Given the description of an element on the screen output the (x, y) to click on. 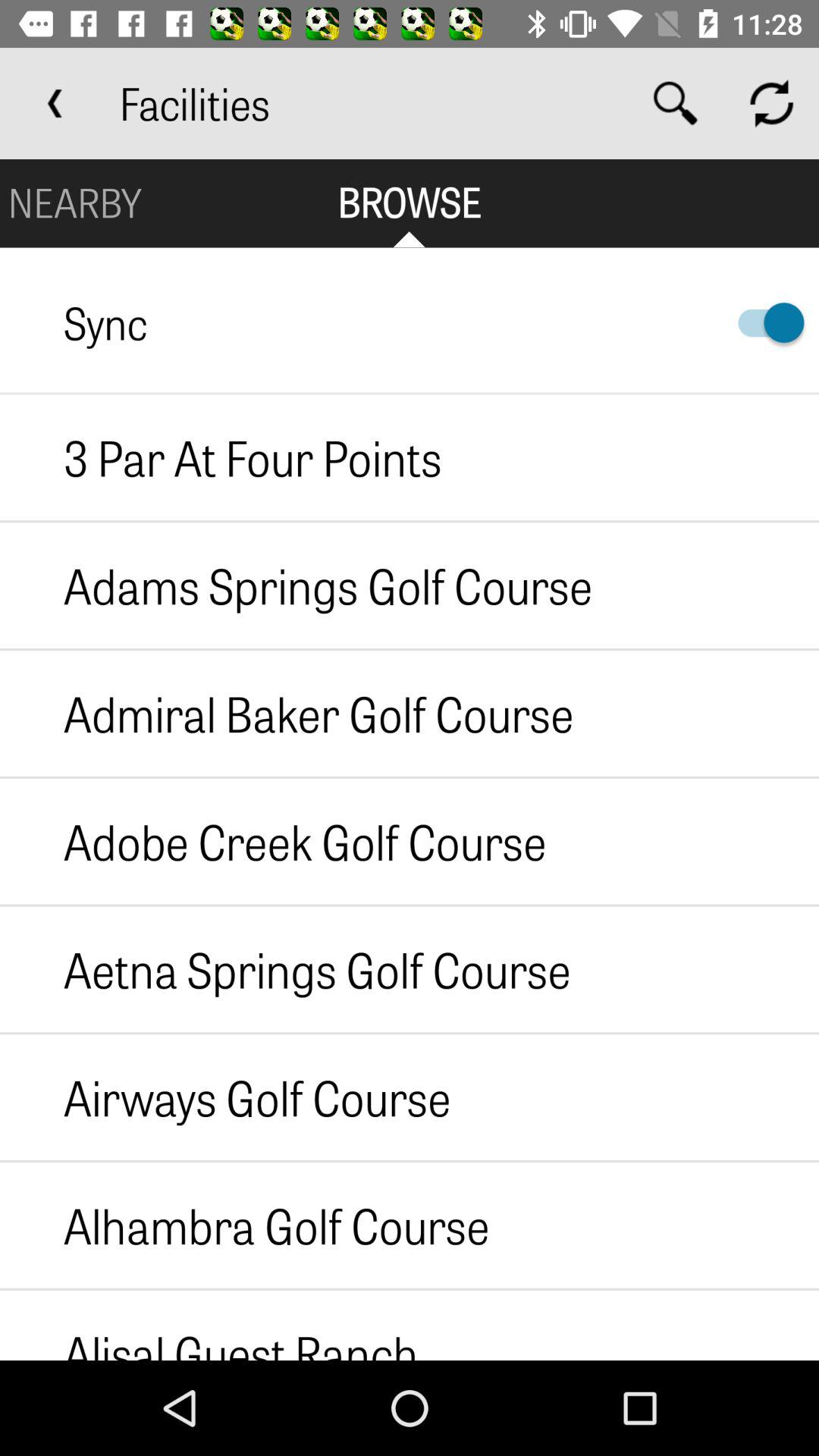
choose the item above the airways golf course icon (285, 969)
